Given the description of an element on the screen output the (x, y) to click on. 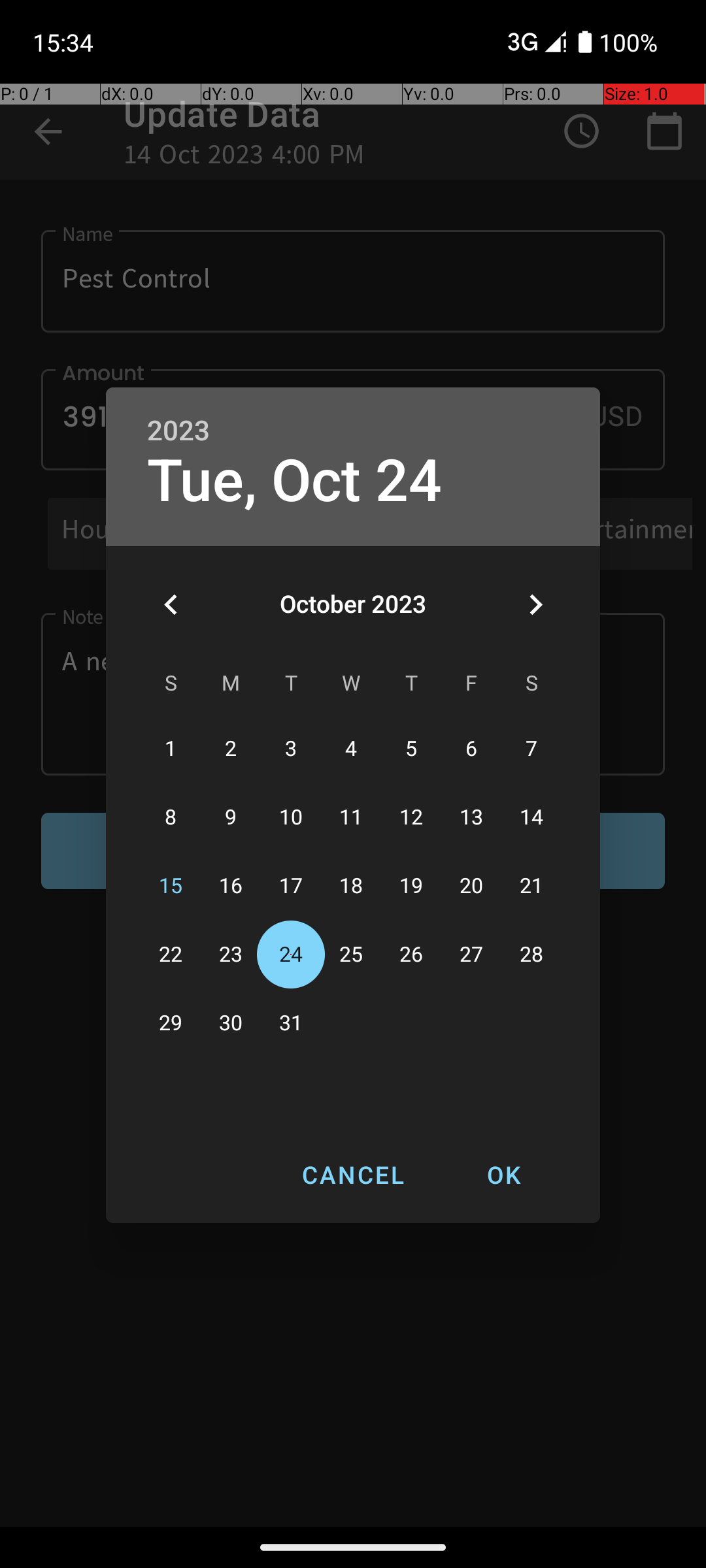
Tue, Oct 24 Element type: android.widget.TextView (294, 480)
